Given the description of an element on the screen output the (x, y) to click on. 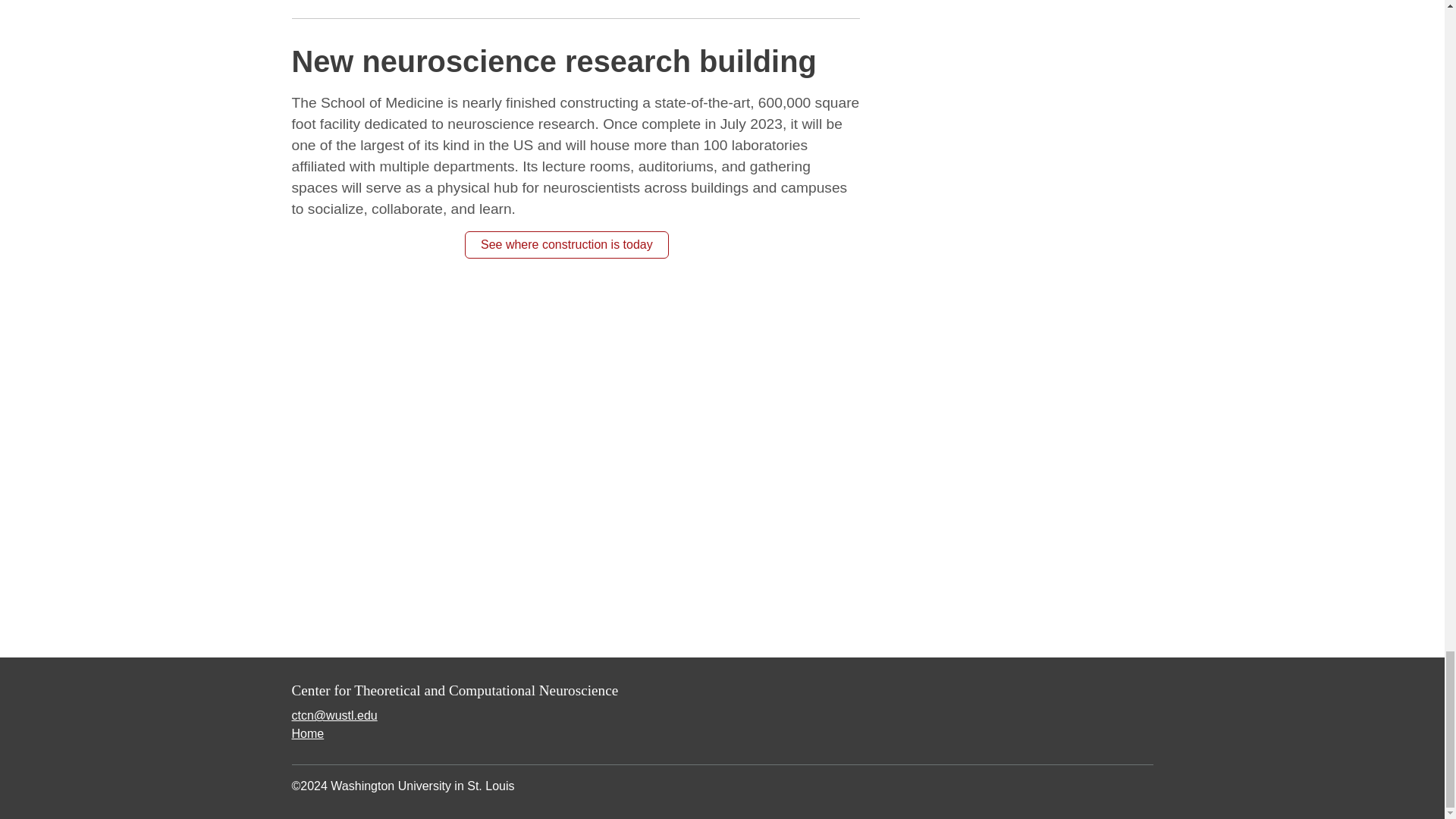
See where construction is today (566, 244)
Home (307, 733)
